Given the description of an element on the screen output the (x, y) to click on. 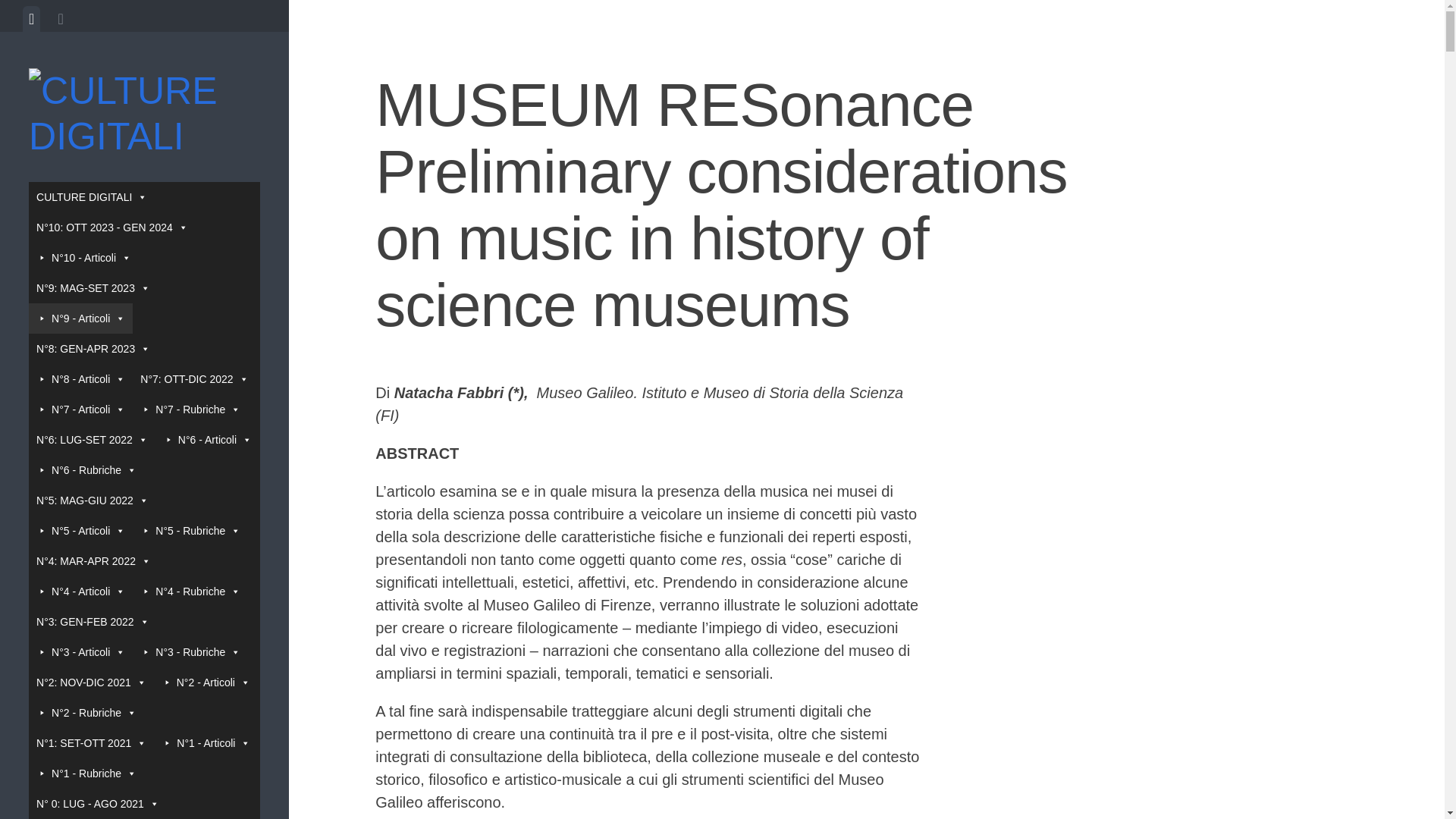
CULTURE DIGITALI (91, 196)
